Given the description of an element on the screen output the (x, y) to click on. 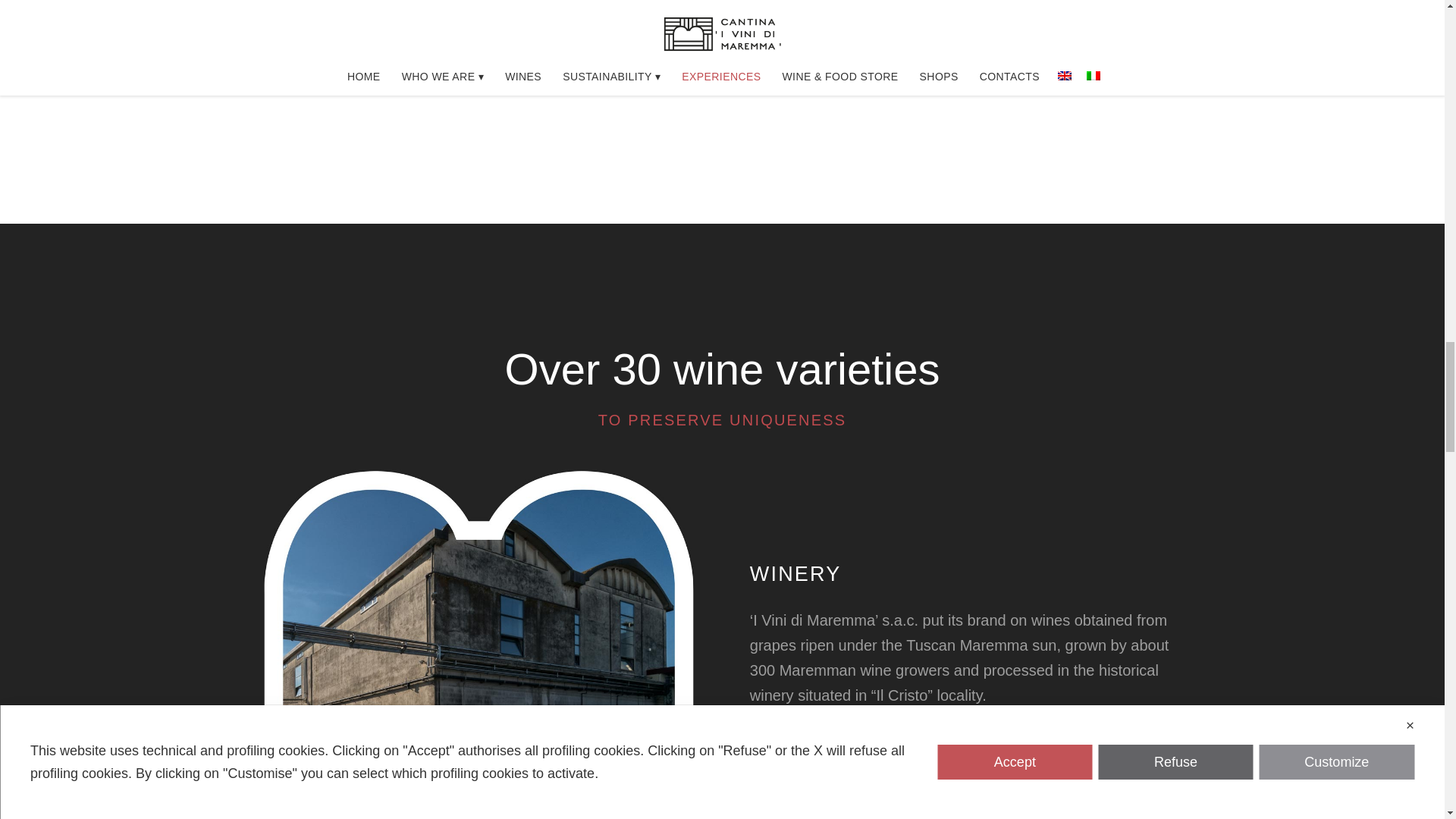
cantine-vini-maremma-azienda-vigneti (964, 816)
